Given the description of an element on the screen output the (x, y) to click on. 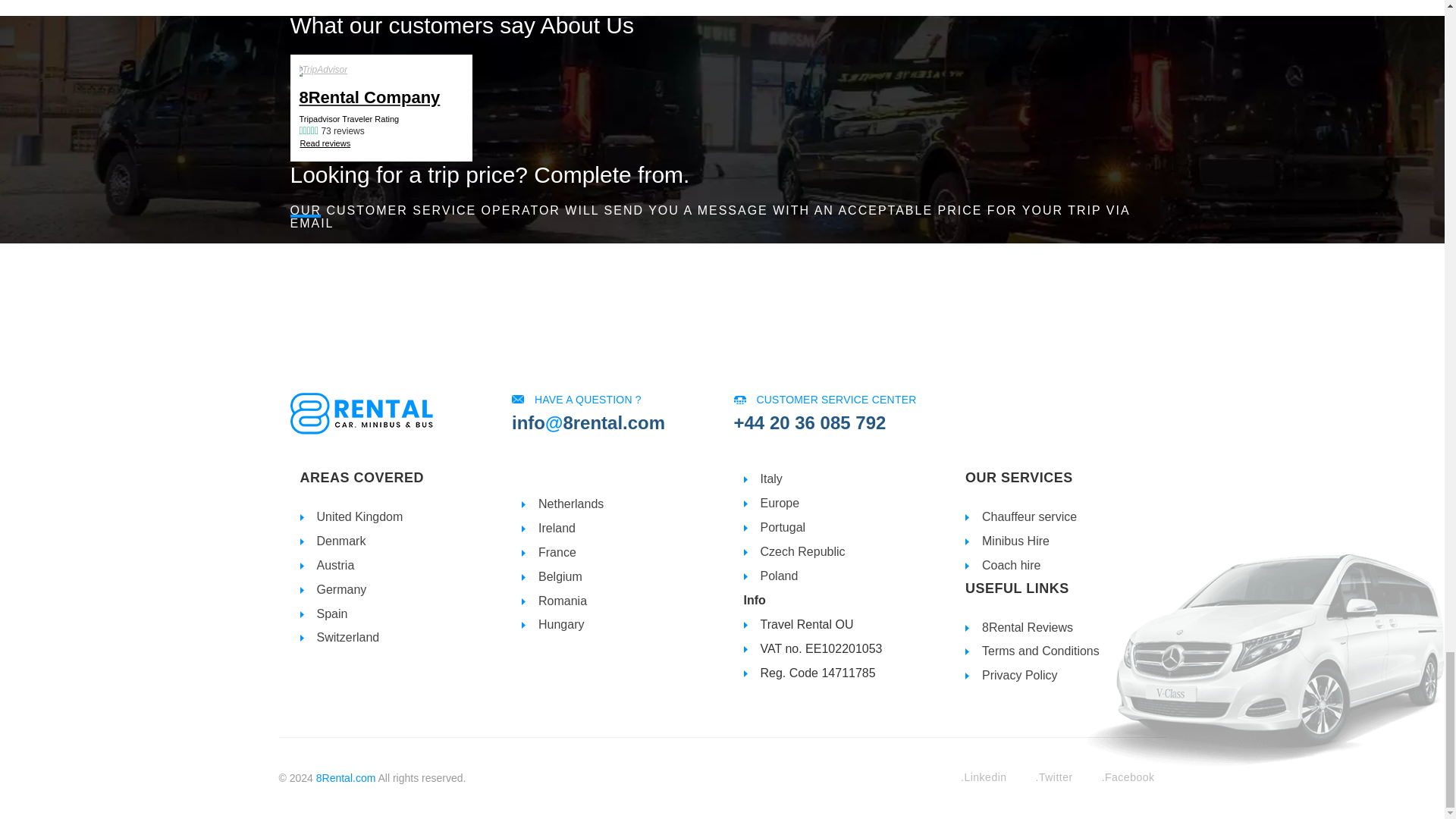
United Kingdom (360, 516)
Romania (562, 600)
Austria (336, 564)
Italy (770, 478)
Hungary (560, 624)
Europe (779, 502)
Chauffeur service (1029, 516)
Czech Republic (802, 551)
Germany (341, 589)
Switzerland (348, 636)
Denmark (341, 540)
8rental company logo (360, 413)
Belgium (560, 576)
Read reviews (324, 143)
Netherlands (571, 503)
